Given the description of an element on the screen output the (x, y) to click on. 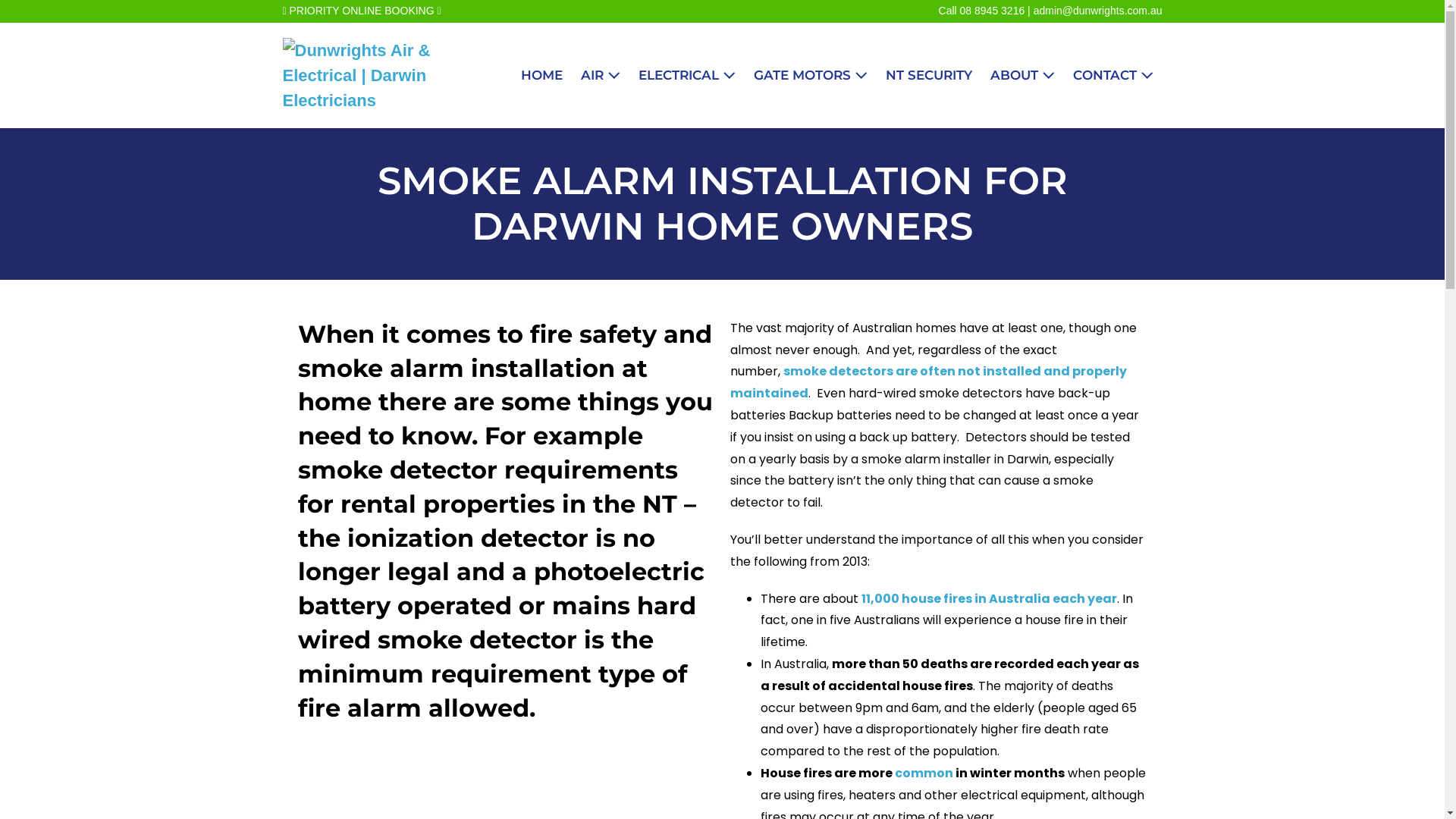
AIR Element type: text (600, 75)
GATE MOTORS Element type: text (810, 75)
HOME Element type: text (541, 75)
admin@dunwrights.com.au Element type: text (1097, 10)
Call 08 8945 3216 Element type: text (981, 10)
ELECTRICAL Element type: text (686, 75)
11,000 house fires in Australia each year Element type: text (989, 598)
Dunwrights Air & Electrical | Darwin Electricians Element type: hover (392, 74)
NT SECURITY Element type: text (928, 75)
CONTACT Element type: text (1112, 75)
ABOUT Element type: text (1022, 75)
common Element type: text (923, 772)
